Given the description of an element on the screen output the (x, y) to click on. 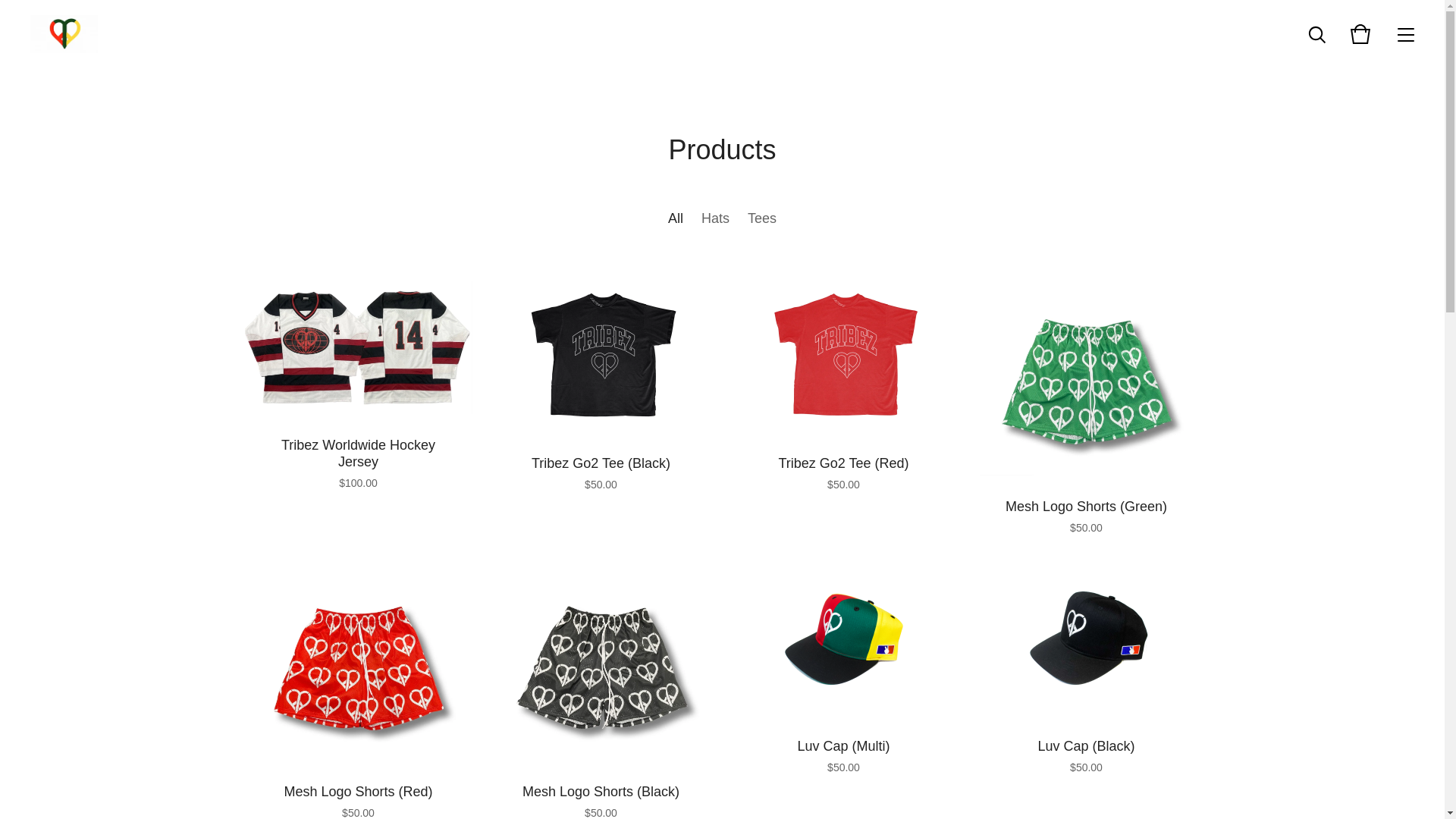
Tribez Go2 Tee (Red)
$50.00 Element type: text (843, 406)
TRIBEZ HTX Element type: hover (63, 34)
Tribez Worldwide Hockey Jersey
$100.00 Element type: text (357, 406)
Mesh Logo Shorts (Green)
$50.00 Element type: text (1085, 406)
Hats Element type: text (715, 222)
Menu Element type: hover (1405, 34)
All Element type: text (675, 222)
Tees Element type: text (762, 222)
Tribez Go2 Tee (Black)
$50.00 Element type: text (600, 406)
